Given the description of an element on the screen output the (x, y) to click on. 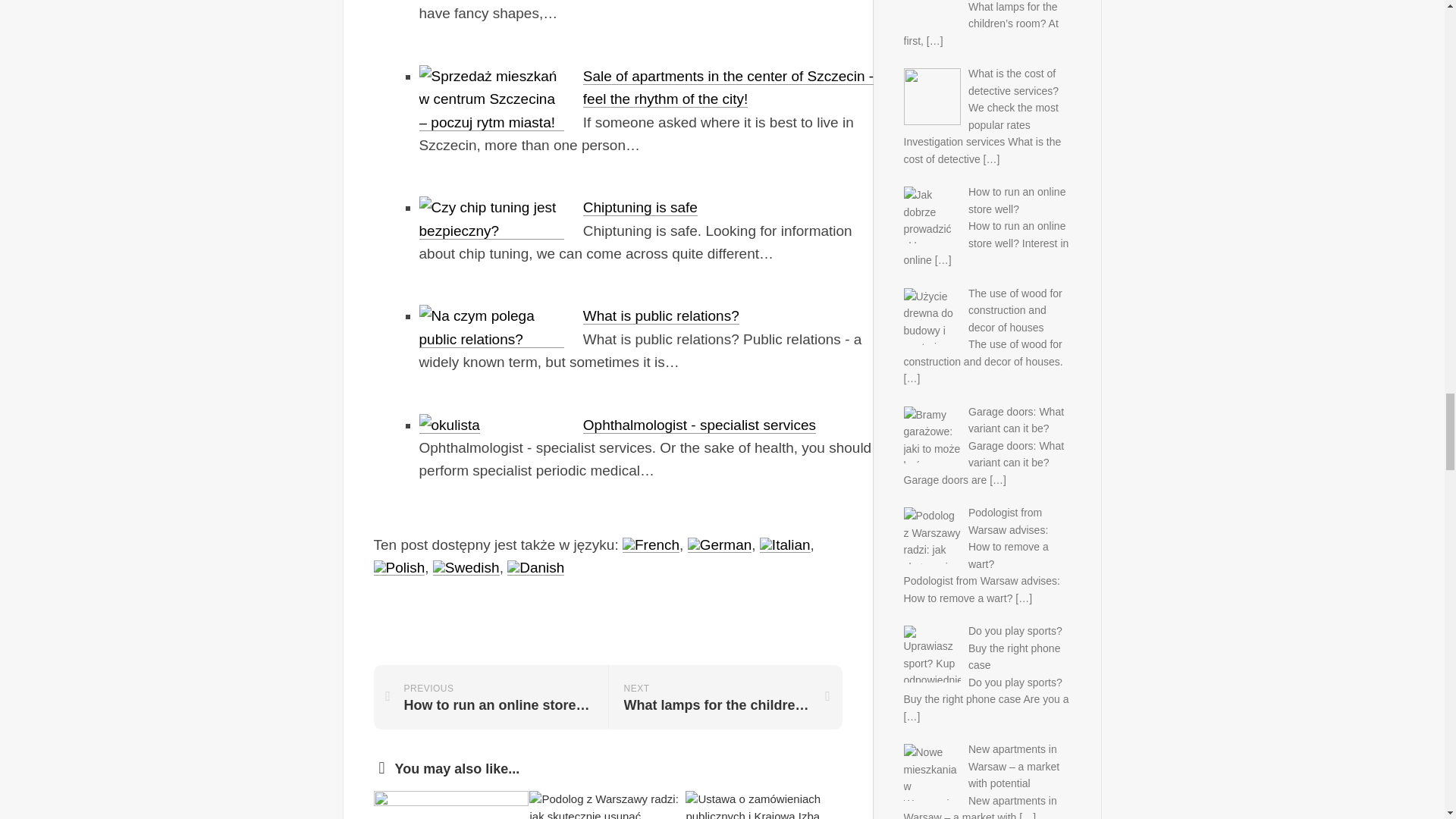
What is public relations? (661, 315)
Chiptuning is safe (640, 207)
